Given the description of an element on the screen output the (x, y) to click on. 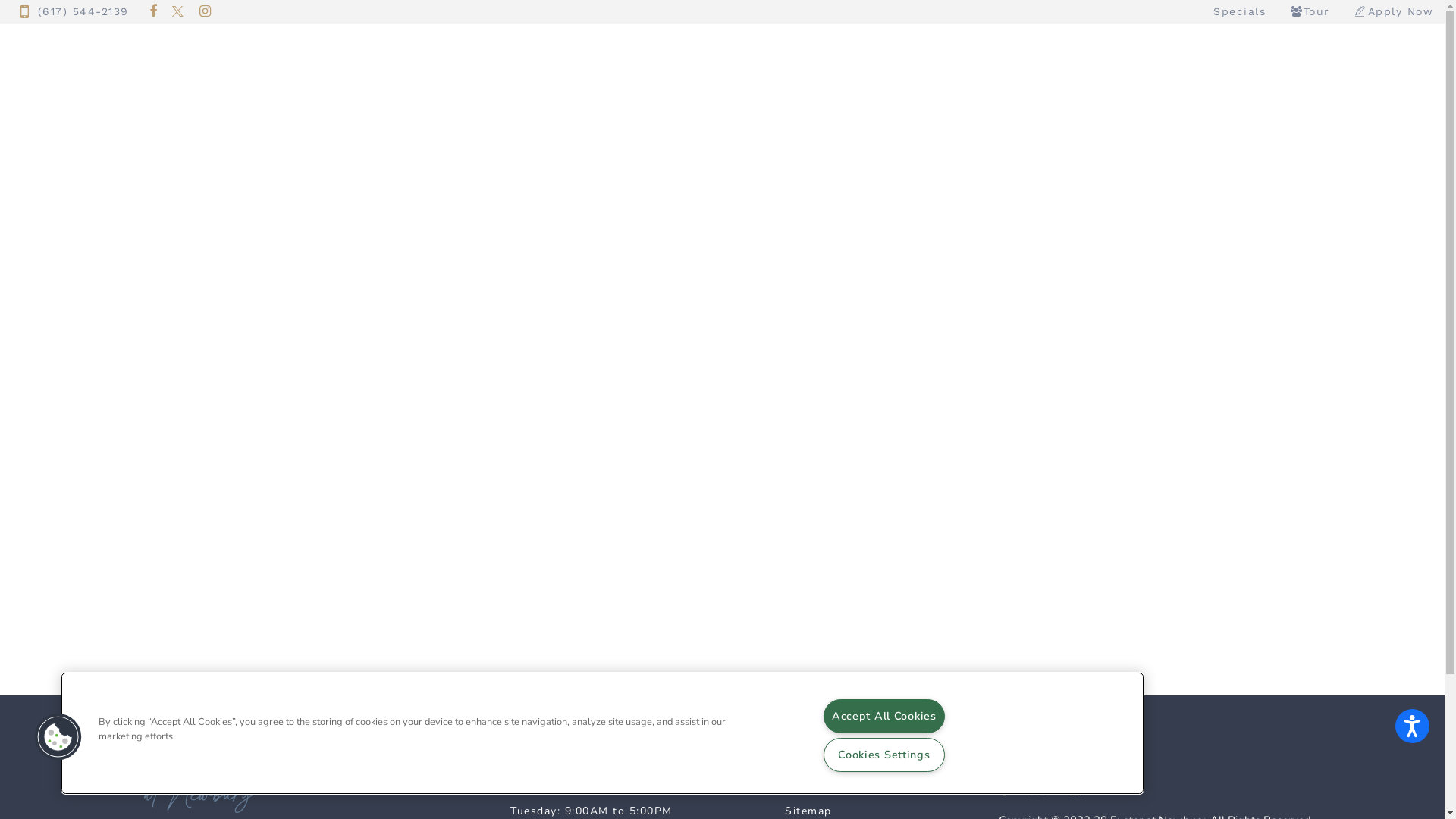
Specials Element type: text (1239, 11)
Privacy Element type: text (805, 786)
Tour Element type: text (1309, 11)
Sitemap Element type: text (807, 810)
Accept All Cookies Element type: text (883, 716)
Cookies Button Element type: text (58, 736)
Cookies Settings Element type: text (883, 754)
Apply Now Element type: text (1392, 11)
(617) 544-2139 Element type: text (74, 11)
